Given the description of an element on the screen output the (x, y) to click on. 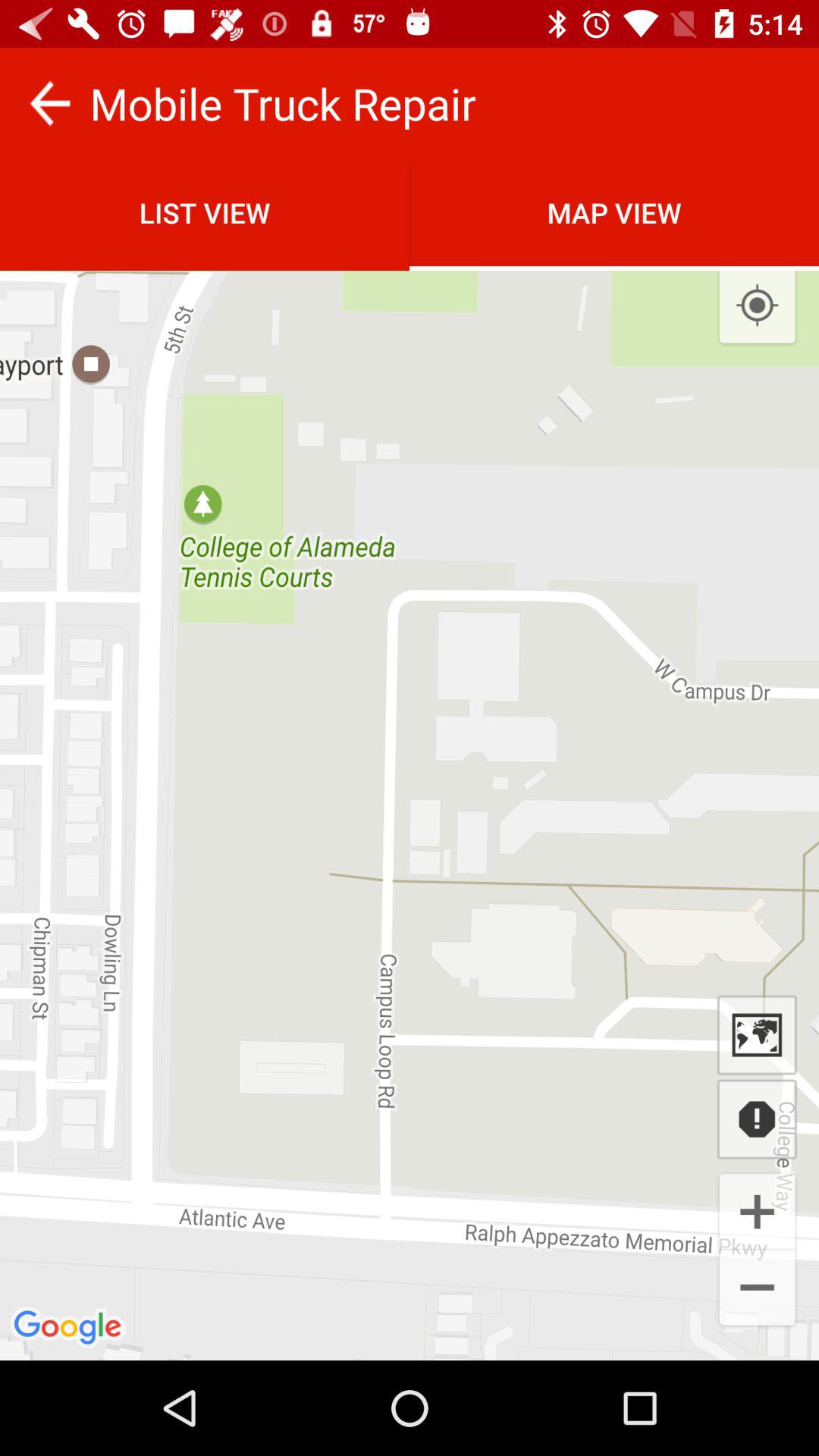
turn off the item to the right of the list view item (757, 306)
